Given the description of an element on the screen output the (x, y) to click on. 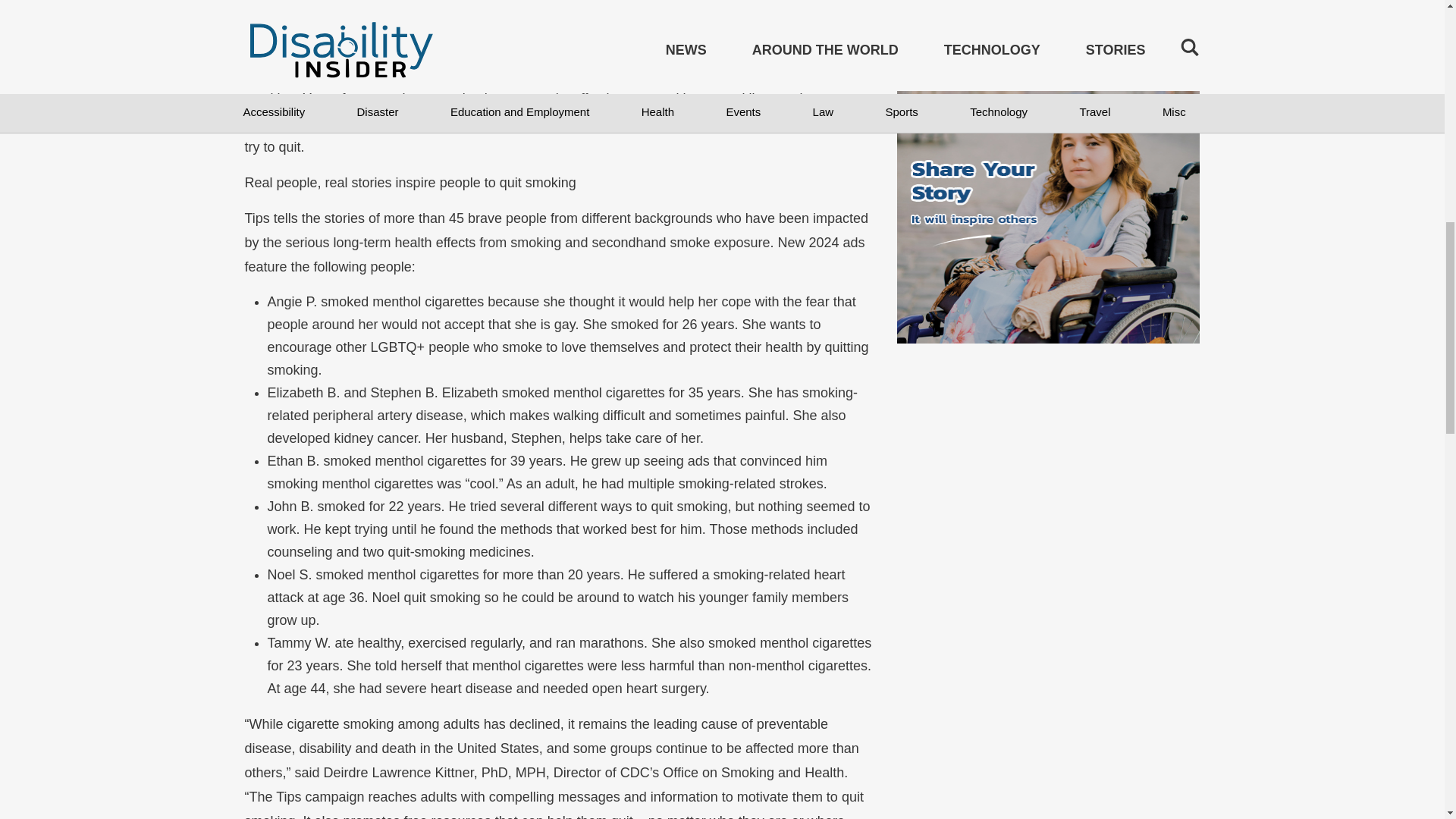
saved lives and money (523, 111)
New program to enhance inclusive tourism offering (1048, 15)
menthol cigarettes (718, 27)
